Given the description of an element on the screen output the (x, y) to click on. 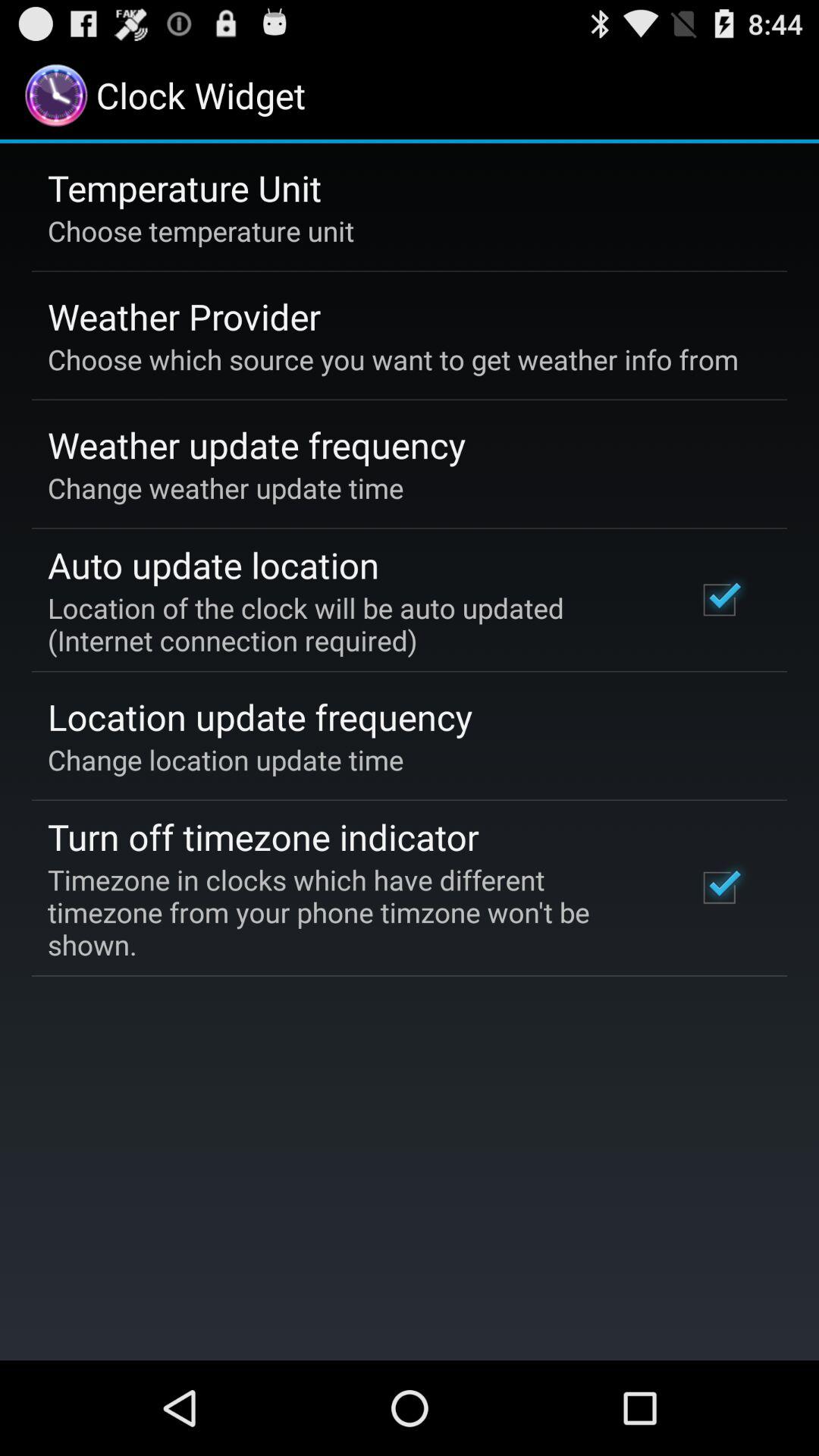
tap the icon below the choose temperature unit icon (183, 316)
